Given the description of an element on the screen output the (x, y) to click on. 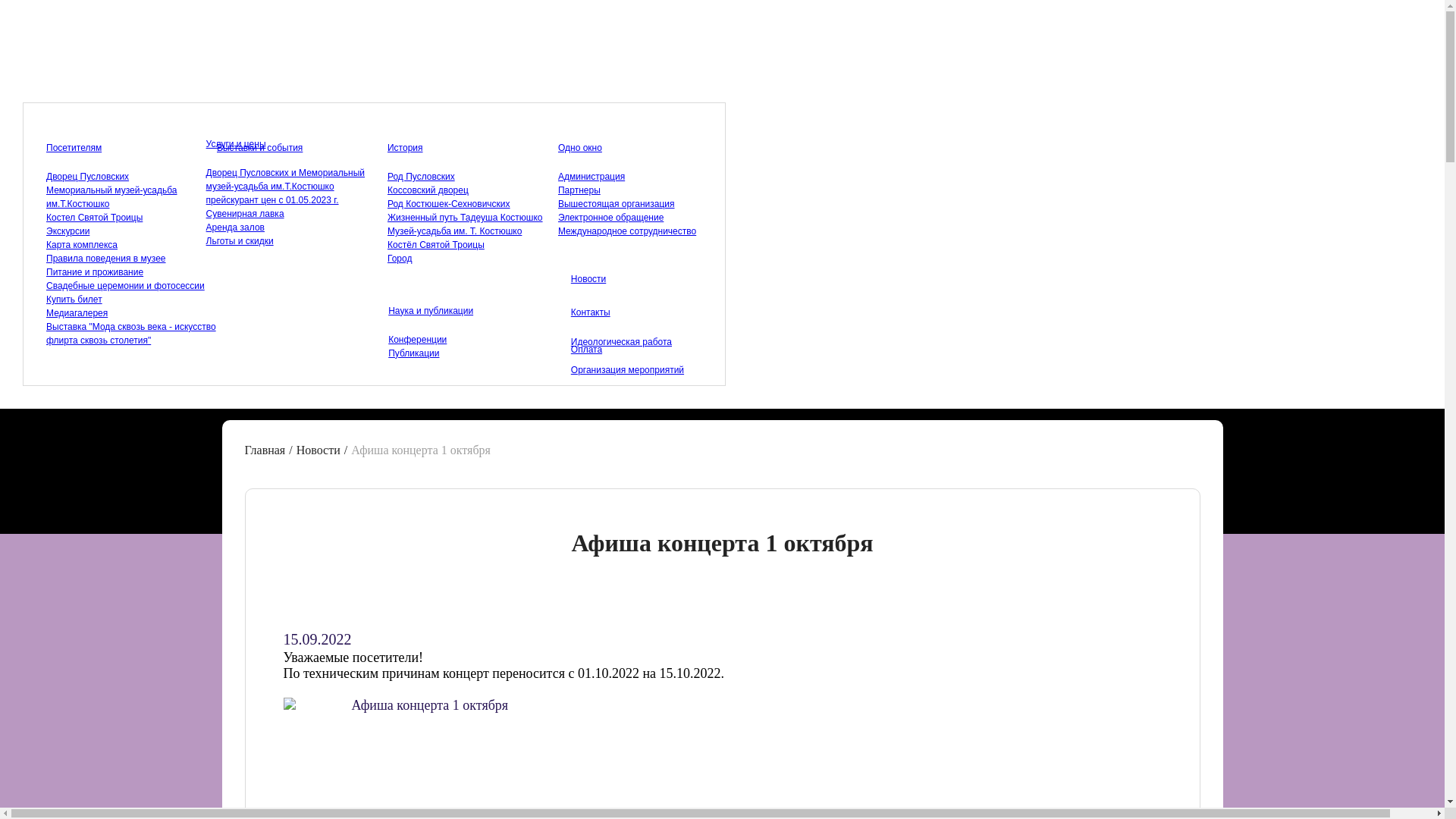
EN Element type: text (1075, 111)
RU Element type: text (1010, 111)
BY Element type: text (1042, 111)
